Given the description of an element on the screen output the (x, y) to click on. 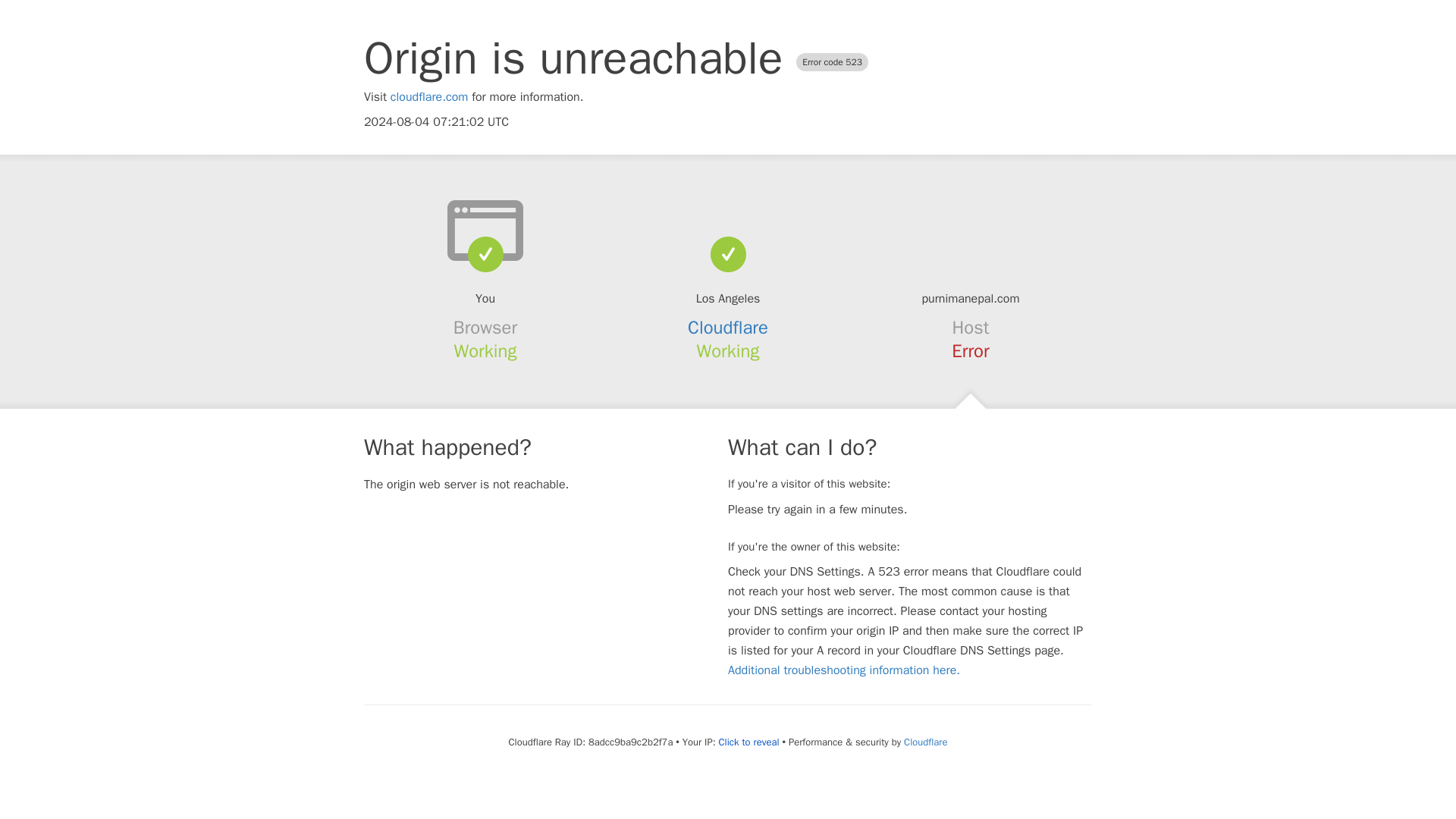
Cloudflare (925, 741)
Click to reveal (748, 742)
Cloudflare (727, 327)
cloudflare.com (429, 96)
Additional troubleshooting information here. (843, 670)
